Given the description of an element on the screen output the (x, y) to click on. 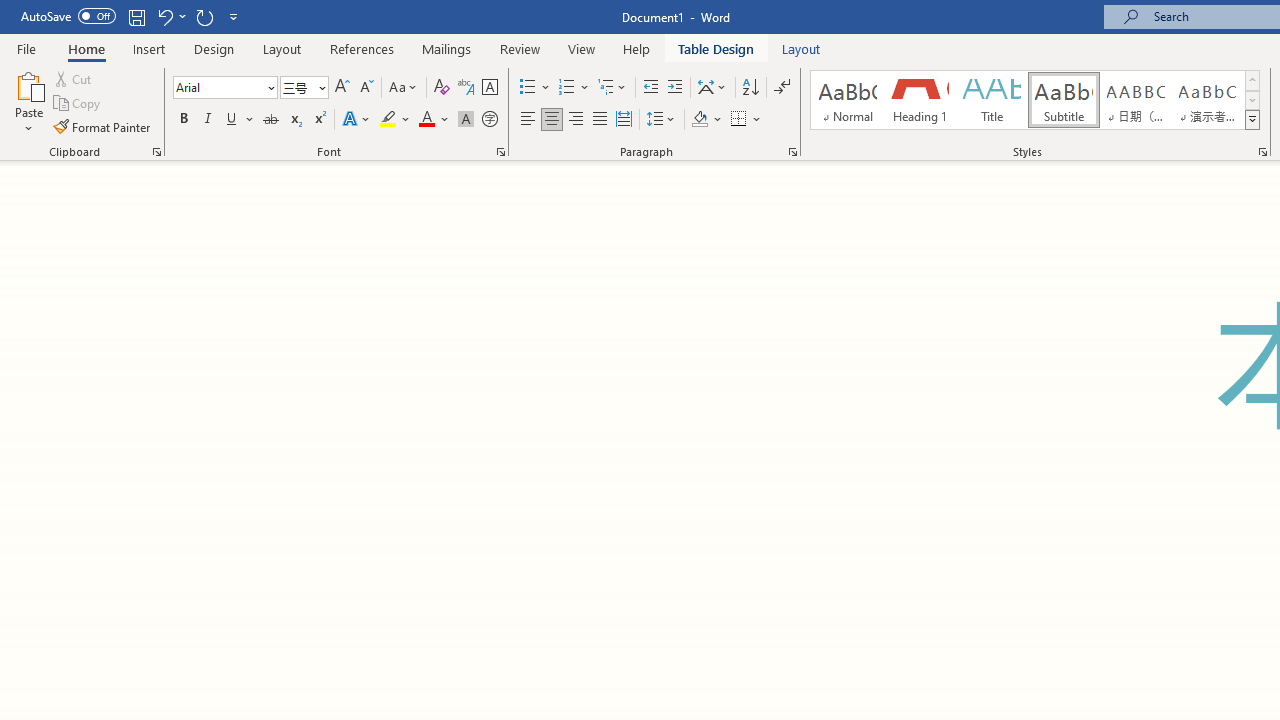
Italic (207, 119)
Subscript (294, 119)
Undo Paste (164, 15)
AutomationID: QuickStylesGallery (1035, 99)
Open (320, 87)
Asian Layout (712, 87)
Table Design (715, 48)
Font Color Red (426, 119)
Center (552, 119)
Enclose Characters... (489, 119)
Grow Font (342, 87)
